Given the description of an element on the screen output the (x, y) to click on. 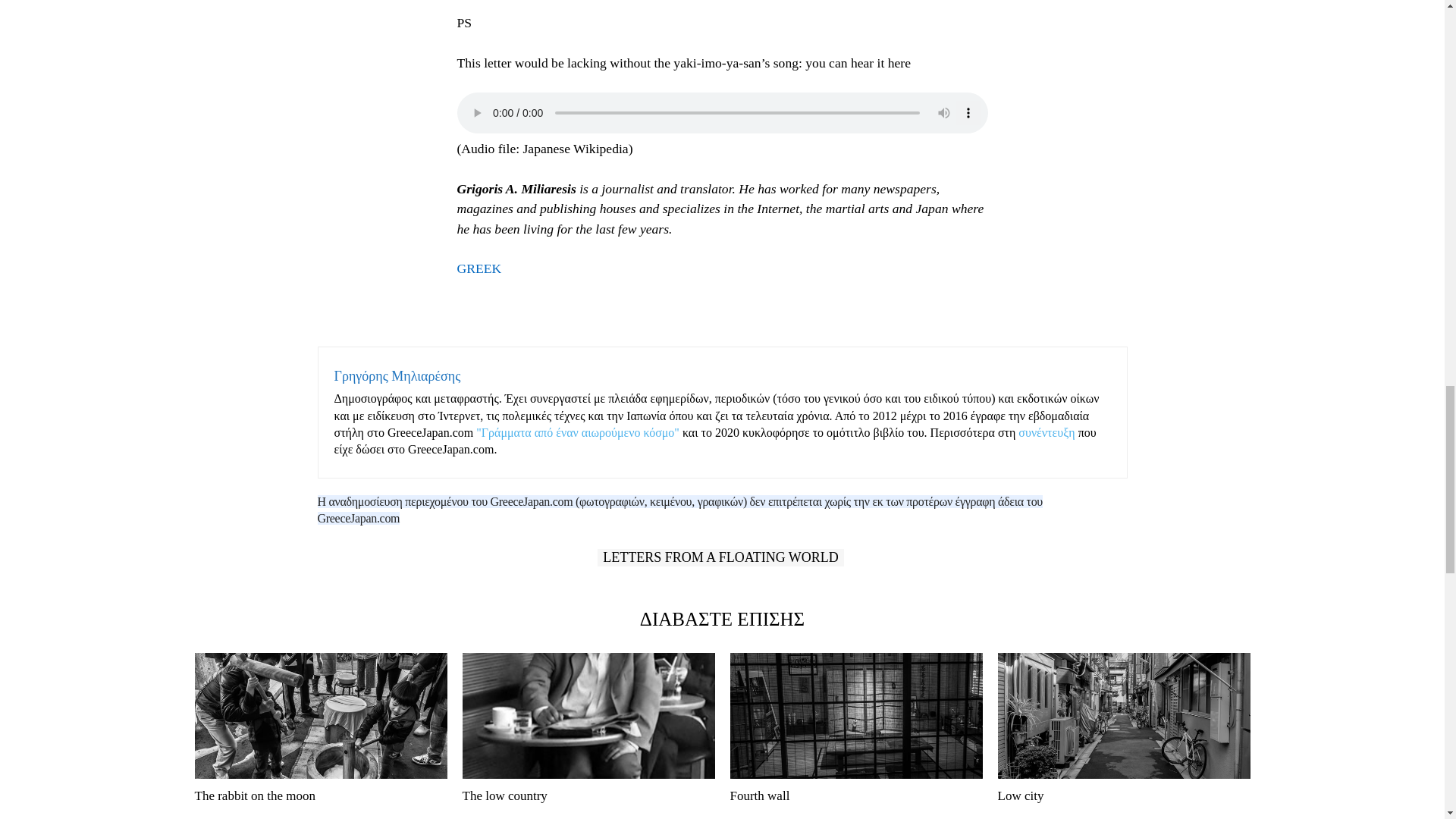
Fourth wall (855, 715)
The rabbit on the moon (254, 795)
The rabbit on the moon (319, 715)
The low country (588, 715)
Fourth wall (759, 795)
The low country (505, 795)
